Given the description of an element on the screen output the (x, y) to click on. 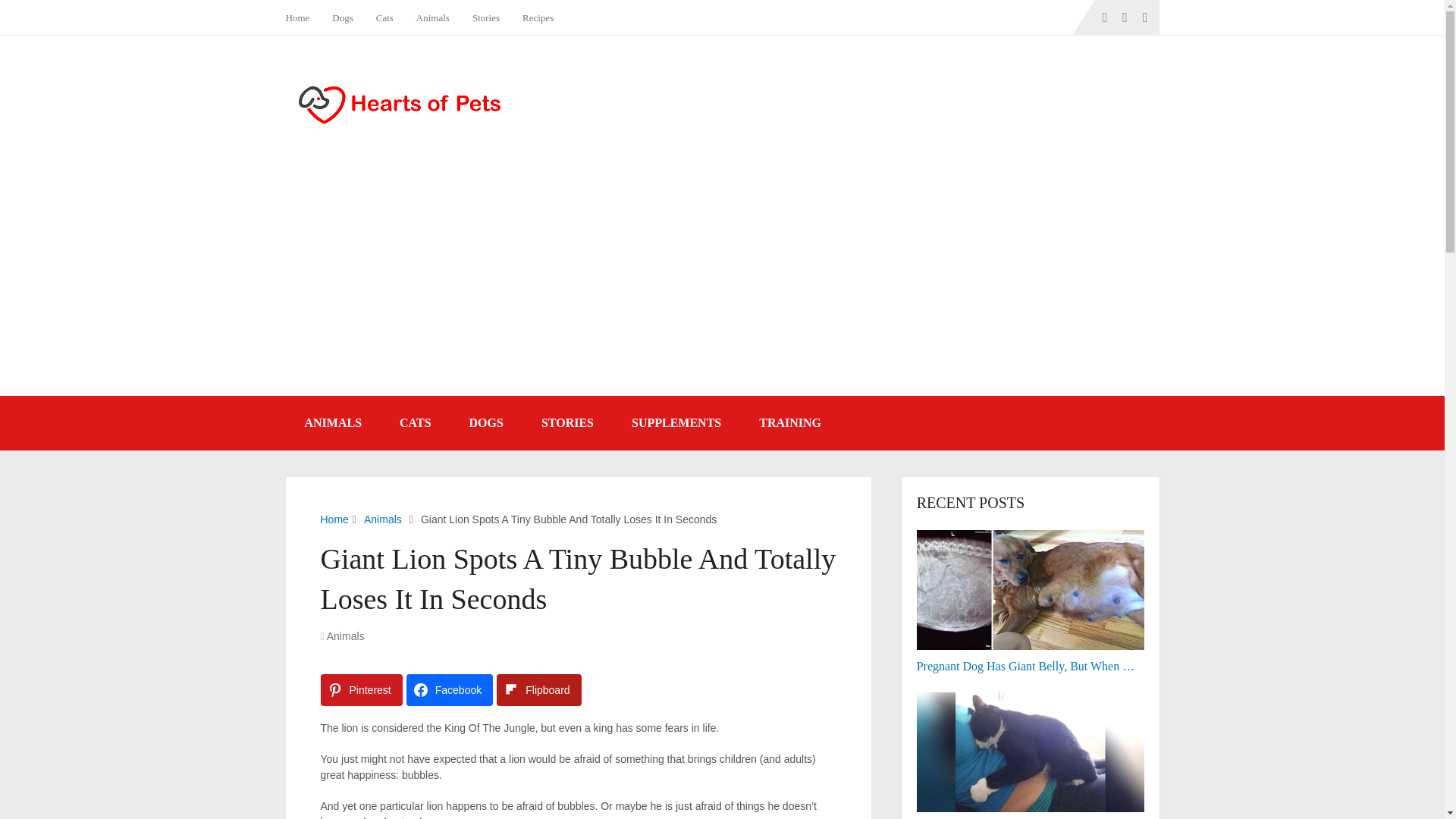
CATS (414, 422)
DOGS (485, 422)
Share on Flipboard (538, 689)
View all posts in Animals (345, 635)
SUPPLEMENTS (675, 422)
Animals (345, 635)
Cats (384, 17)
Dogs (342, 17)
Stories (486, 17)
Share on Pinterest (360, 689)
STORIES (567, 422)
Facebook (449, 689)
ANIMALS (332, 422)
Animals (382, 519)
